Given the description of an element on the screen output the (x, y) to click on. 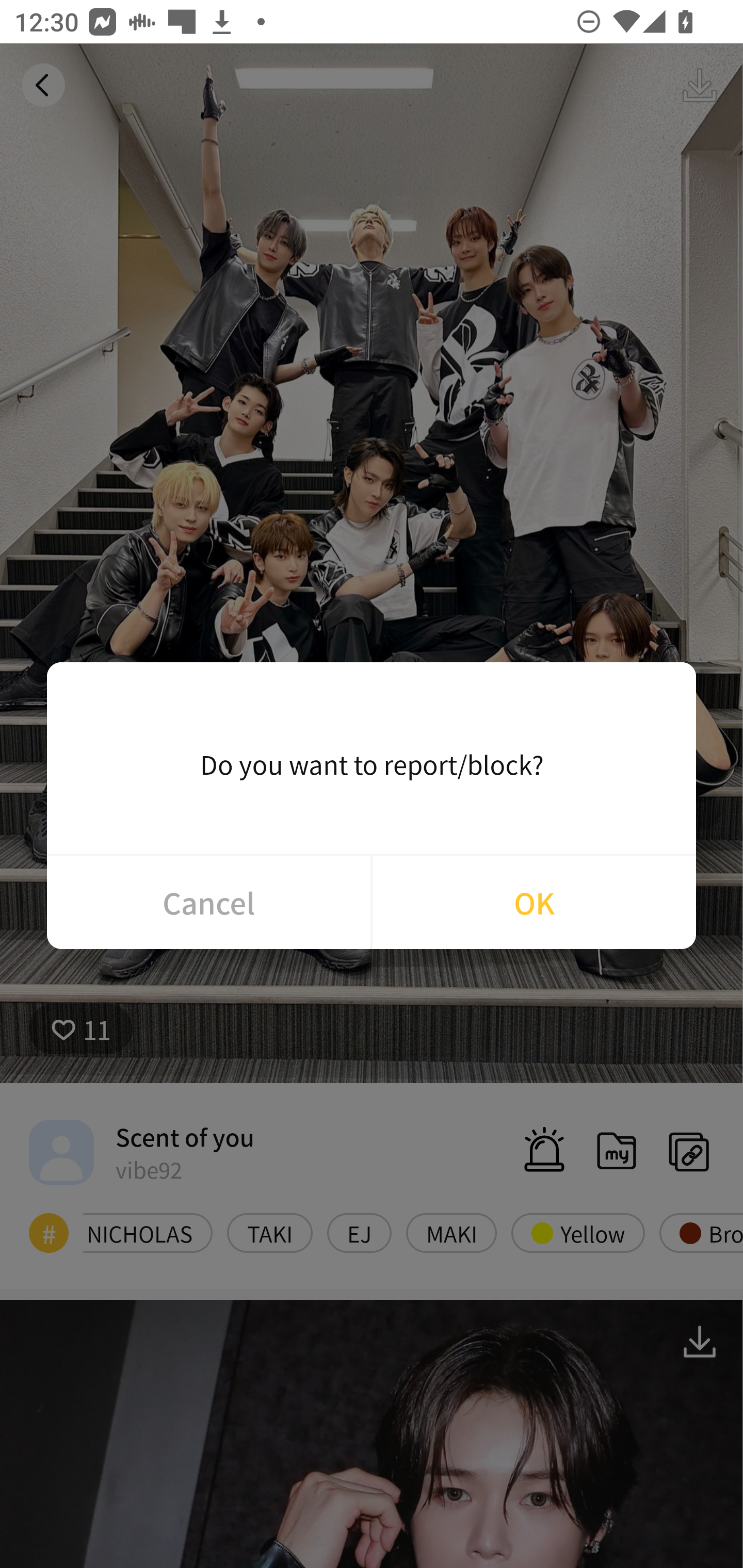
Cancel (208, 902)
OK (534, 902)
